Given the description of an element on the screen output the (x, y) to click on. 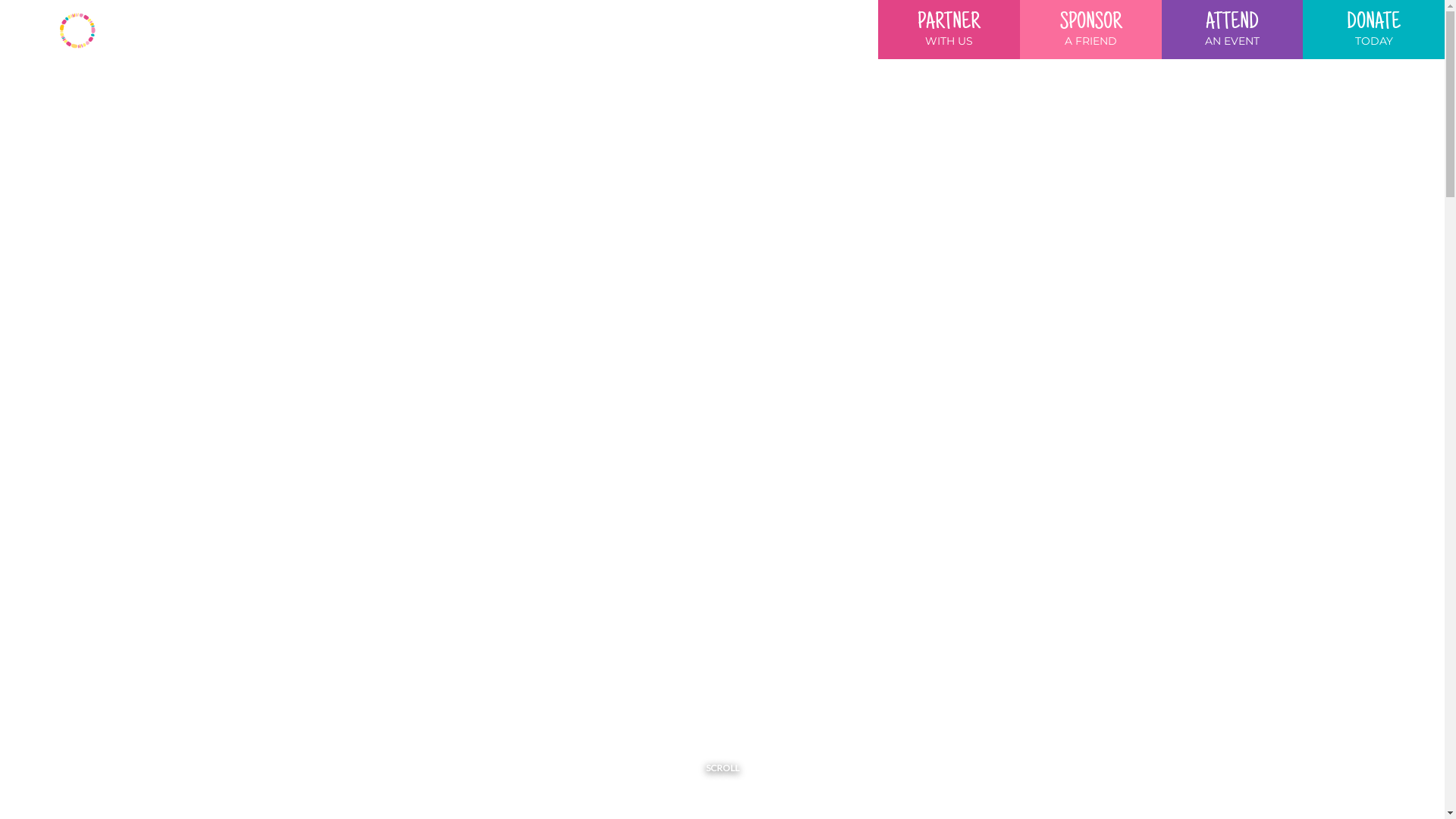
PARTNER
WITH US Element type: text (948, 29)
SPONSOR
A FRIEND Element type: text (1090, 29)
SCROLL Element type: text (721, 761)
ATTEND
AN EVENT Element type: text (1232, 29)
